Given the description of an element on the screen output the (x, y) to click on. 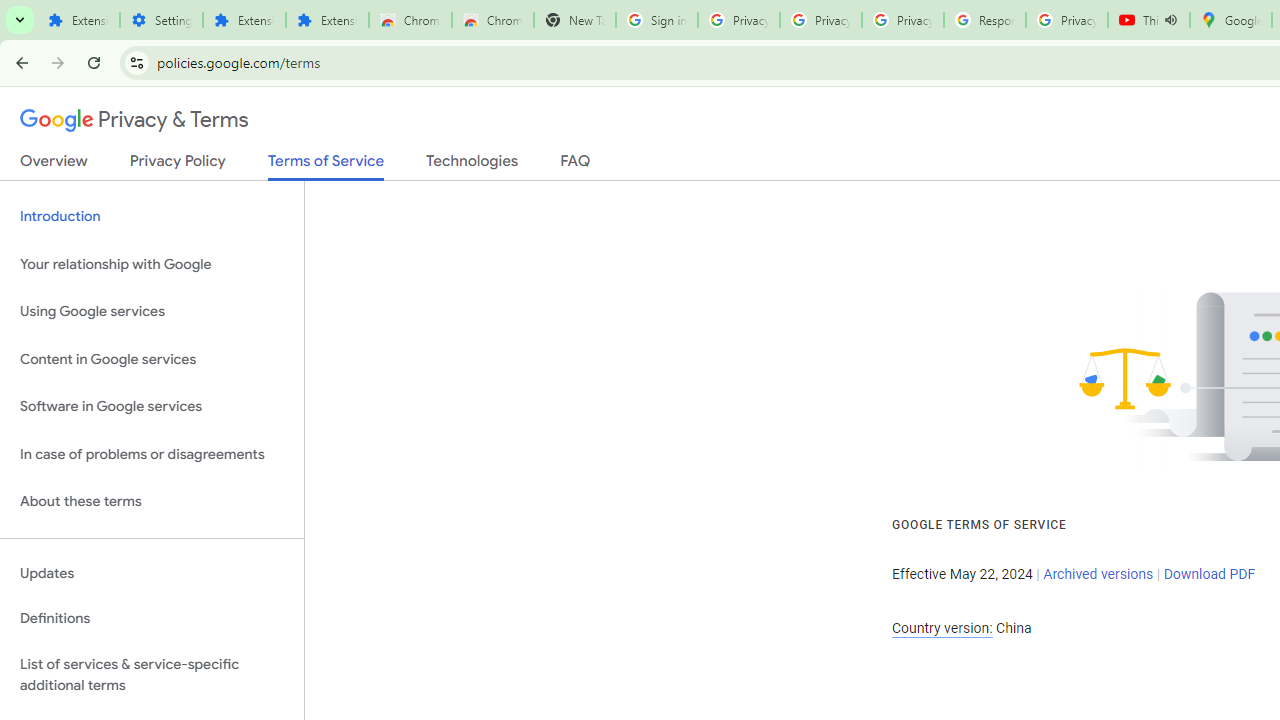
Chrome Web Store - Themes (492, 20)
Sign in - Google Accounts (656, 20)
Extensions (244, 20)
Extensions (78, 20)
Extensions (326, 20)
New Tab (574, 20)
